Given the description of an element on the screen output the (x, y) to click on. 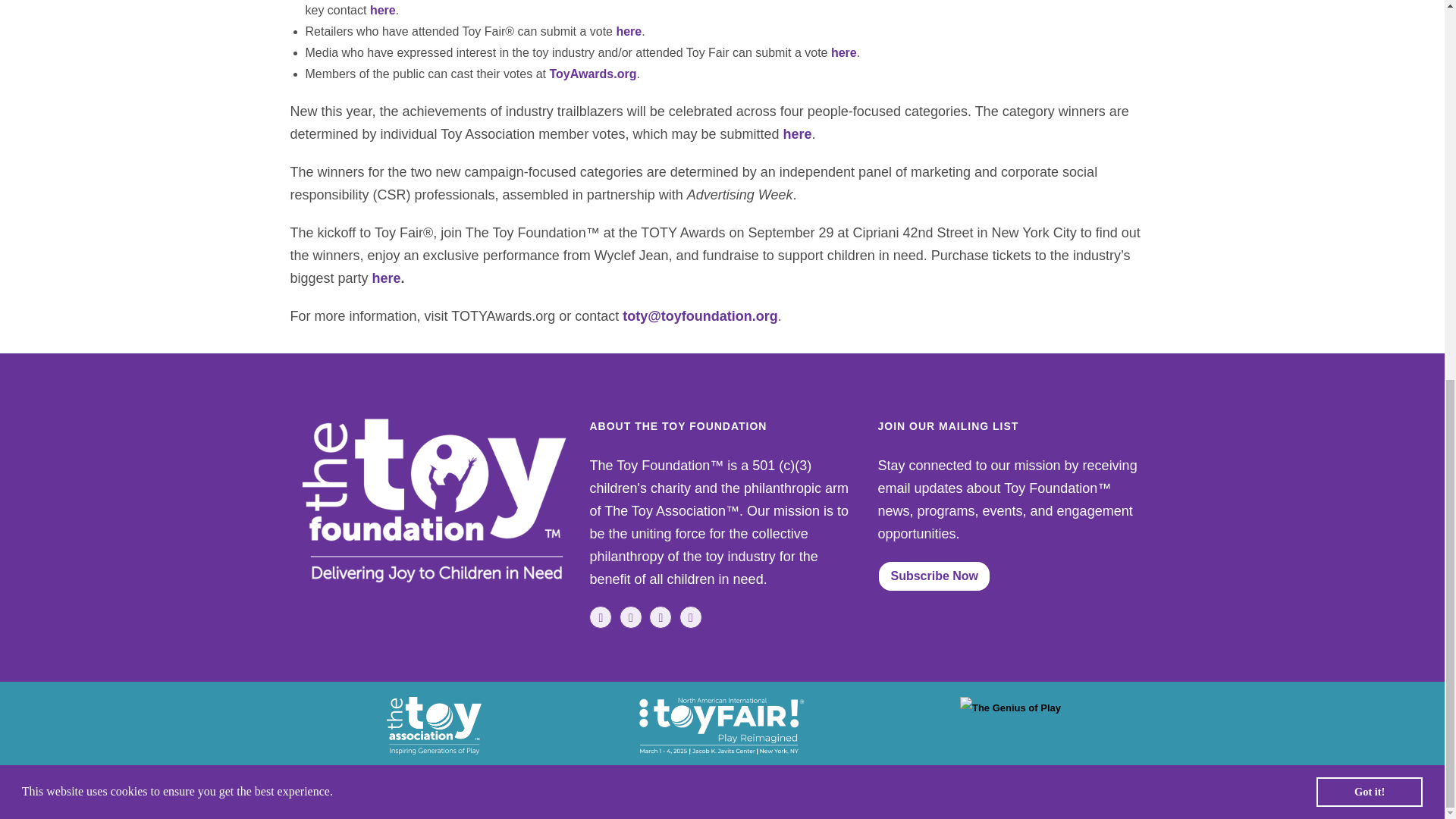
here (382, 10)
here (844, 51)
Back to Top (1414, 85)
here (796, 133)
Got it! (1369, 84)
here (628, 31)
The Genius of Play (1010, 707)
ToyAwards.org (592, 73)
here (386, 278)
Toy Fair (721, 724)
